Given the description of an element on the screen output the (x, y) to click on. 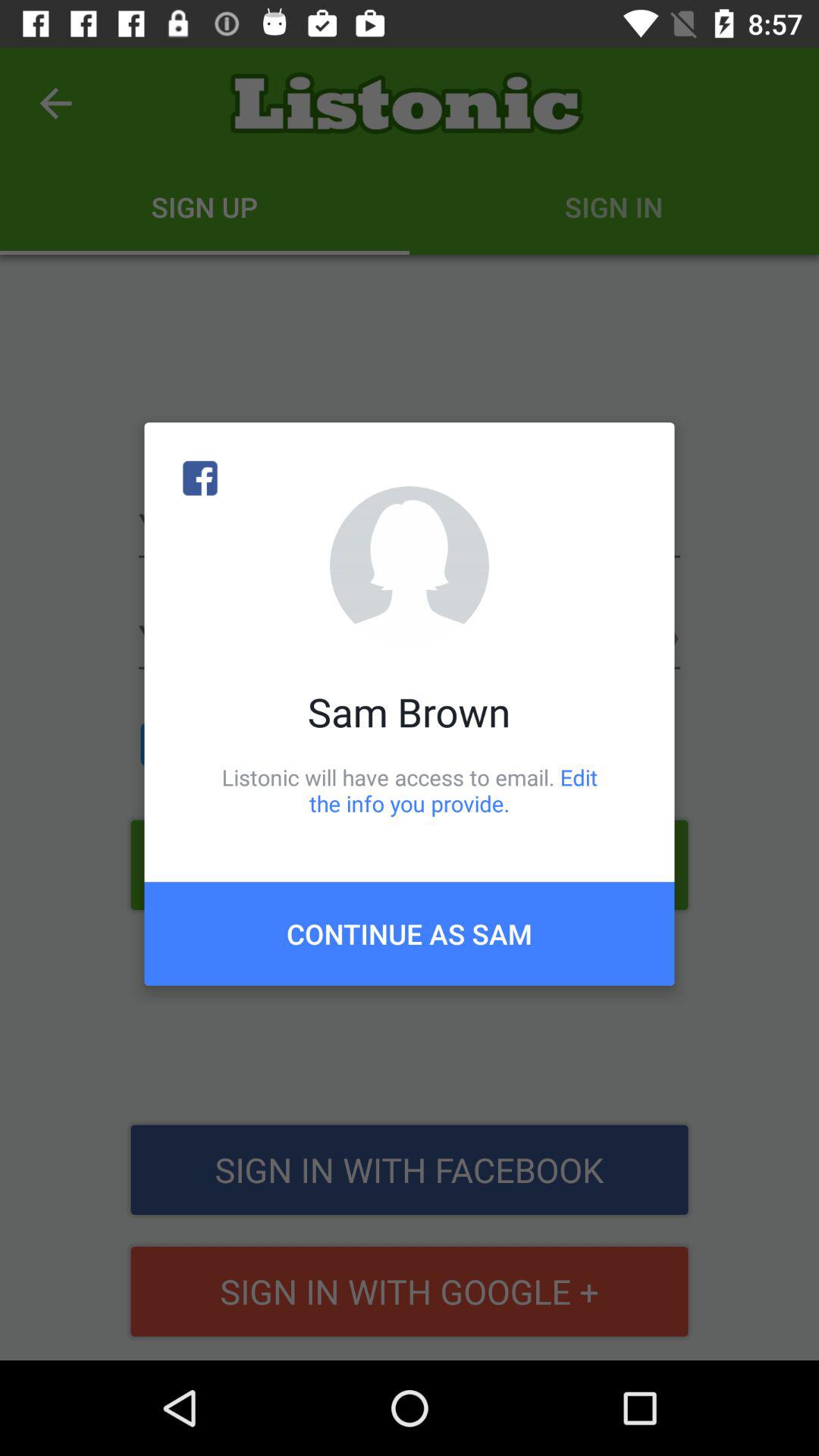
open continue as sam item (409, 933)
